Given the description of an element on the screen output the (x, y) to click on. 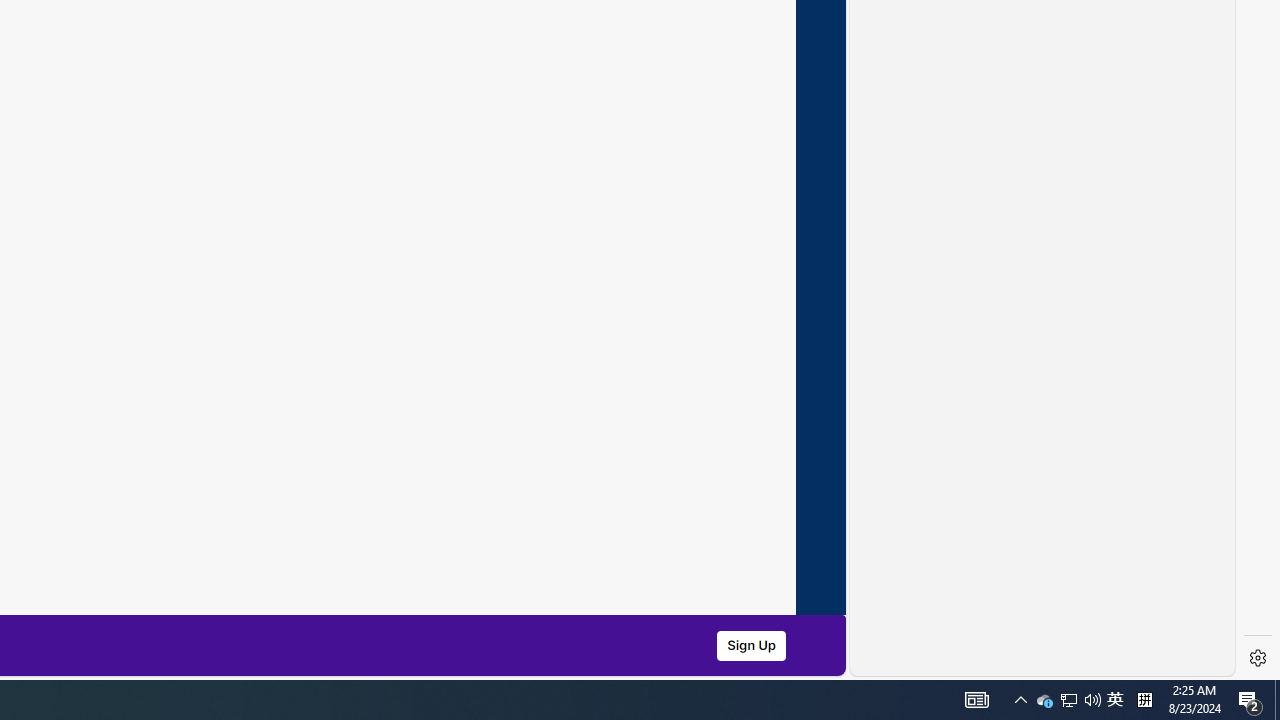
Sign Up (750, 645)
